Given the description of an element on the screen output the (x, y) to click on. 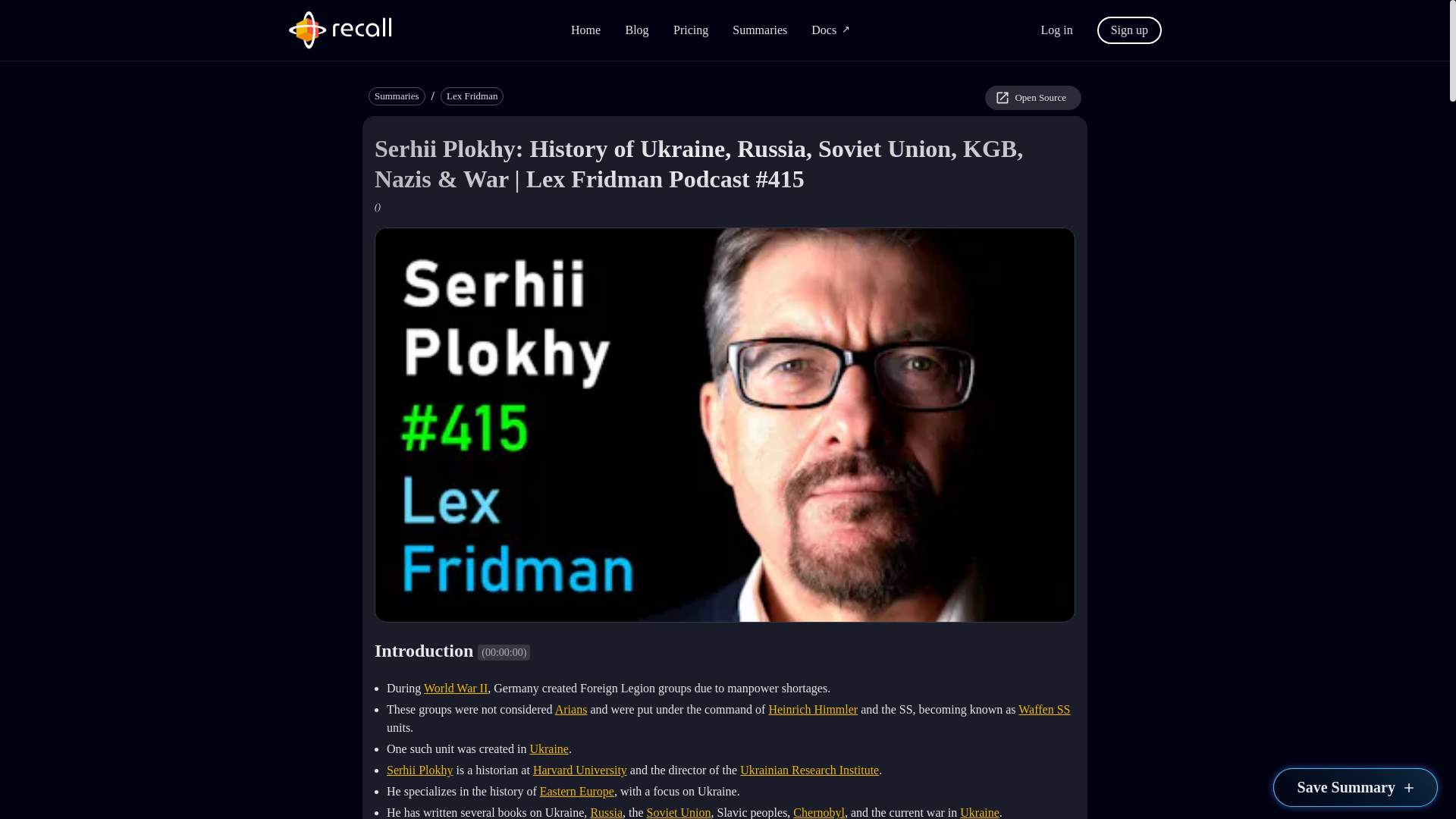
Ukrainian Research Institute (809, 769)
Eastern Europe (577, 790)
Lex Fridman (472, 96)
Sign up (1129, 30)
Waffen SS (1043, 708)
Chernobyl (818, 812)
Home (585, 30)
Open Source (1033, 97)
Soviet Union (678, 812)
Heinrich Himmler (812, 708)
World War II (455, 687)
Harvard University (579, 769)
Ukraine (549, 748)
Ukraine (978, 812)
Sign up (1129, 29)
